Given the description of an element on the screen output the (x, y) to click on. 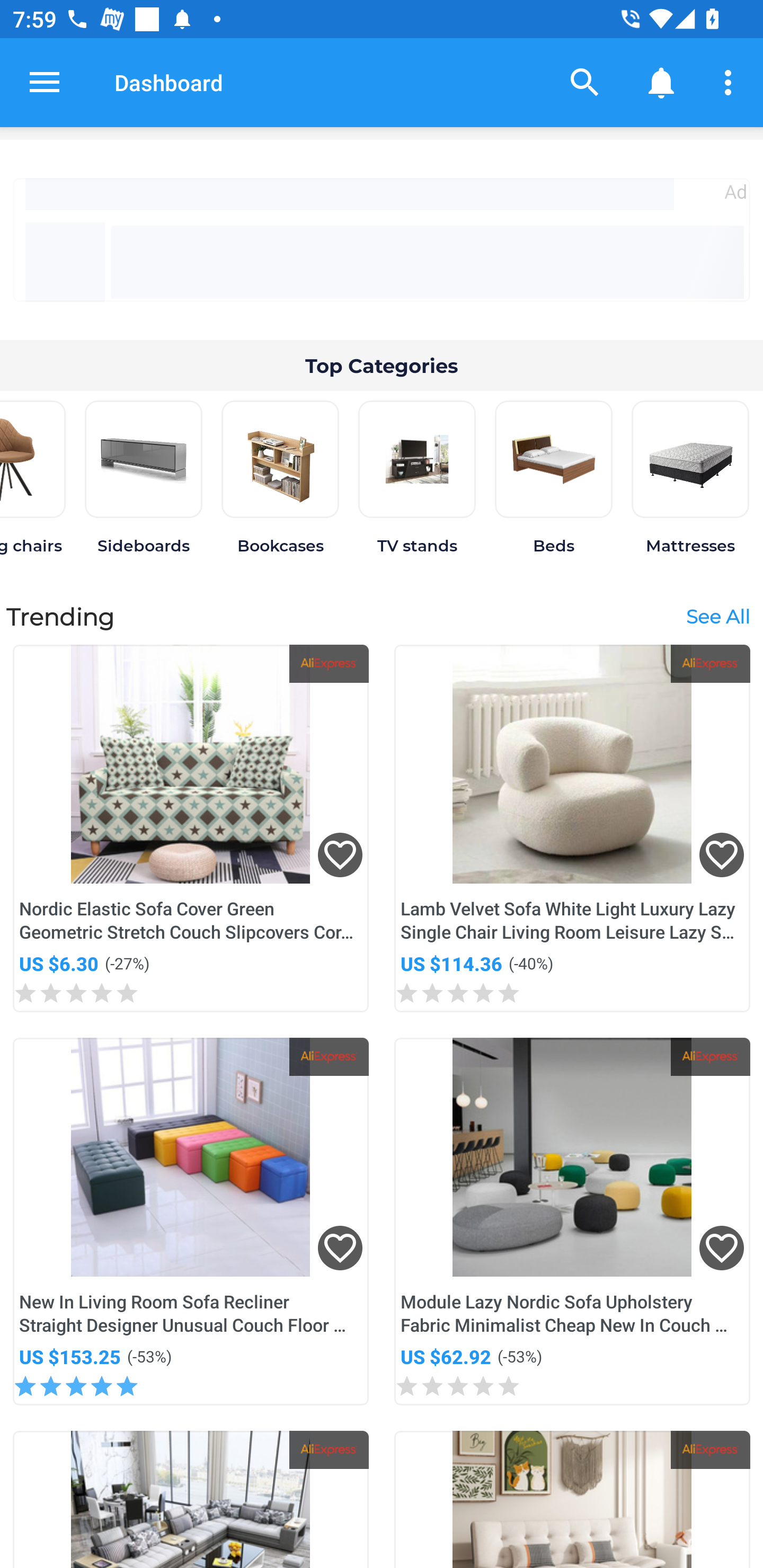
Open navigation drawer (44, 82)
Search (585, 81)
More options (731, 81)
See All (717, 615)
